Given the description of an element on the screen output the (x, y) to click on. 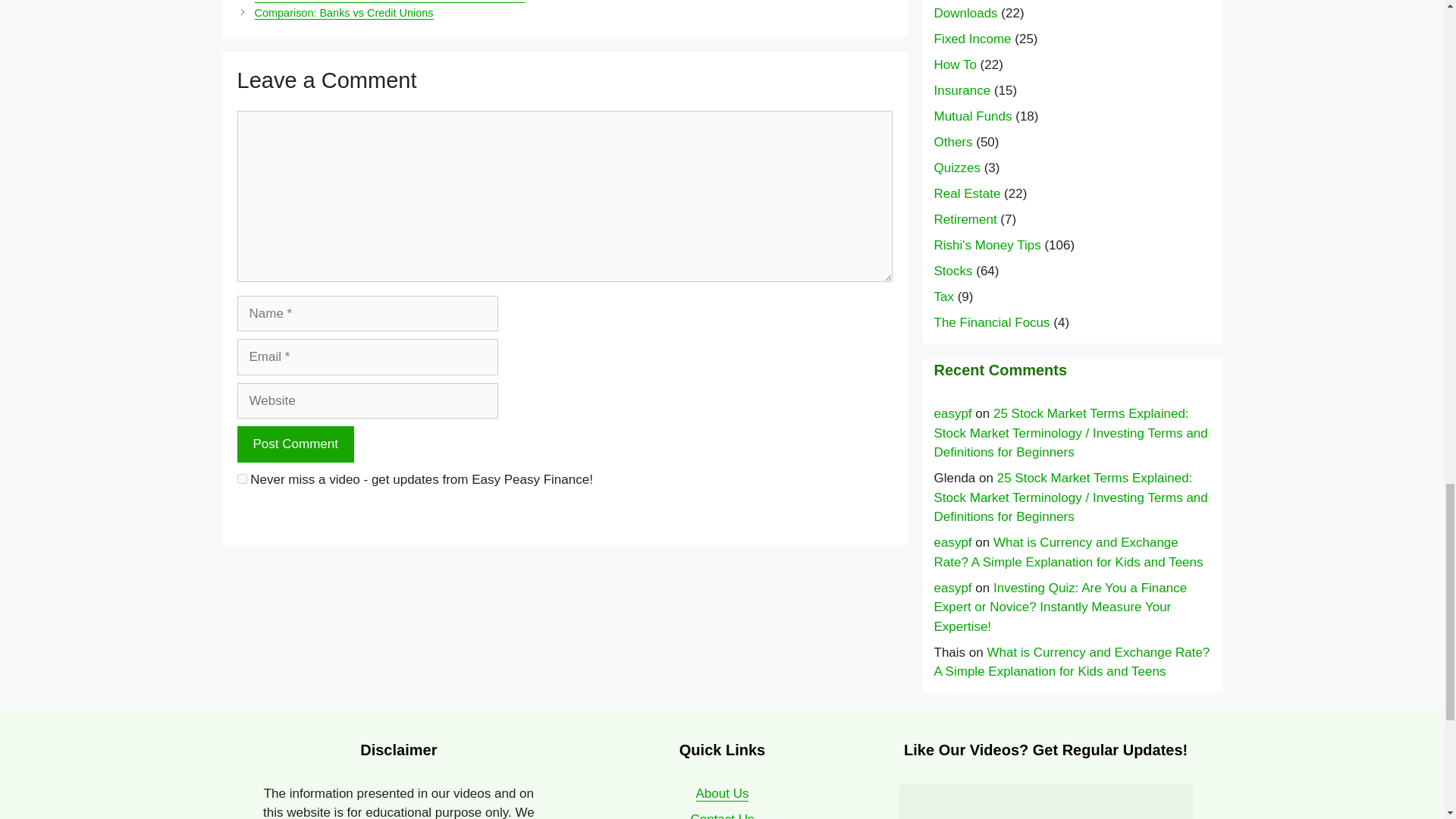
1 (240, 479)
Next (343, 12)
Previous (389, 1)
Post Comment (294, 443)
